Given the description of an element on the screen output the (x, y) to click on. 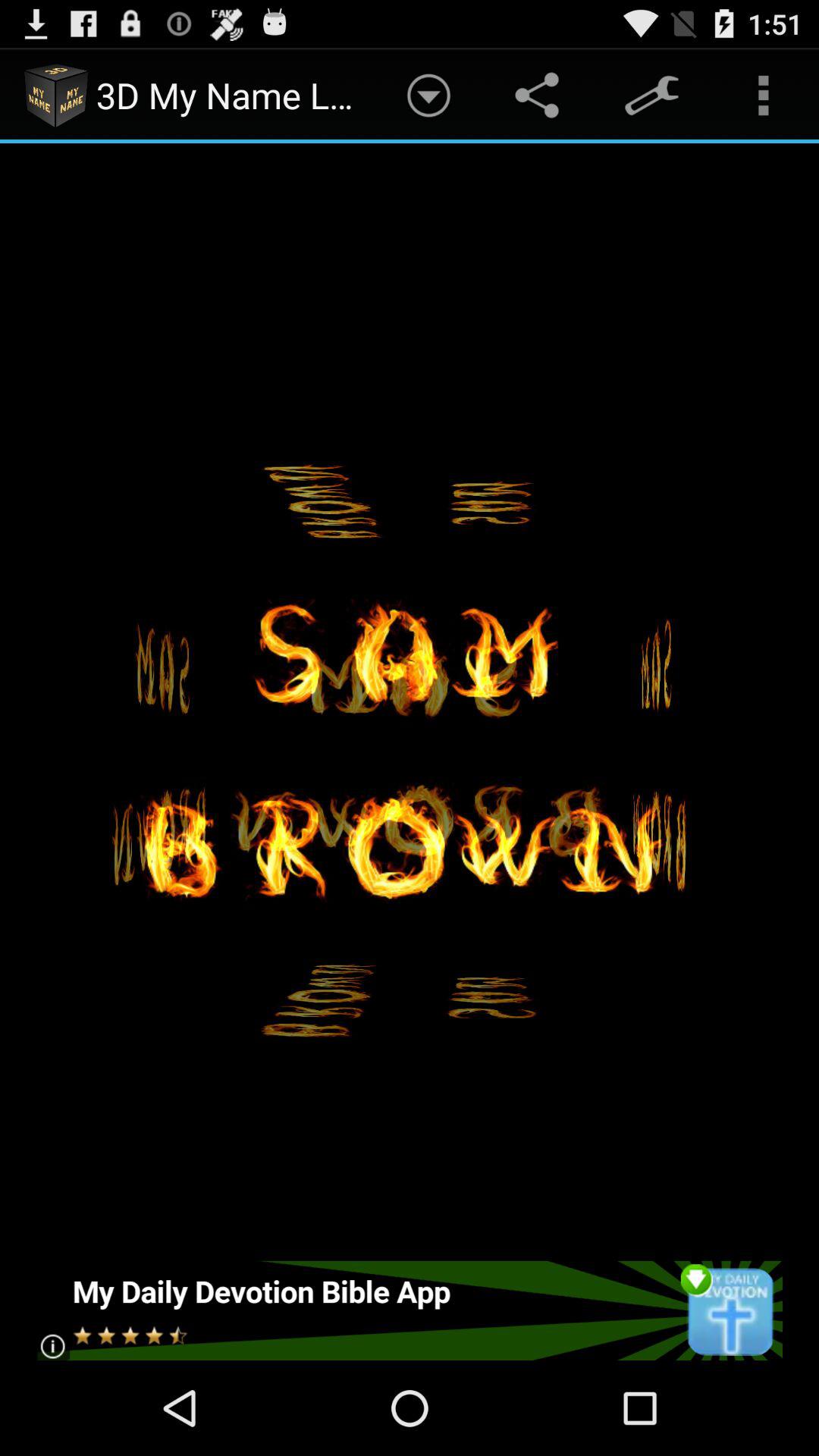
open item to the right of 3d my name item (428, 95)
